Given the description of an element on the screen output the (x, y) to click on. 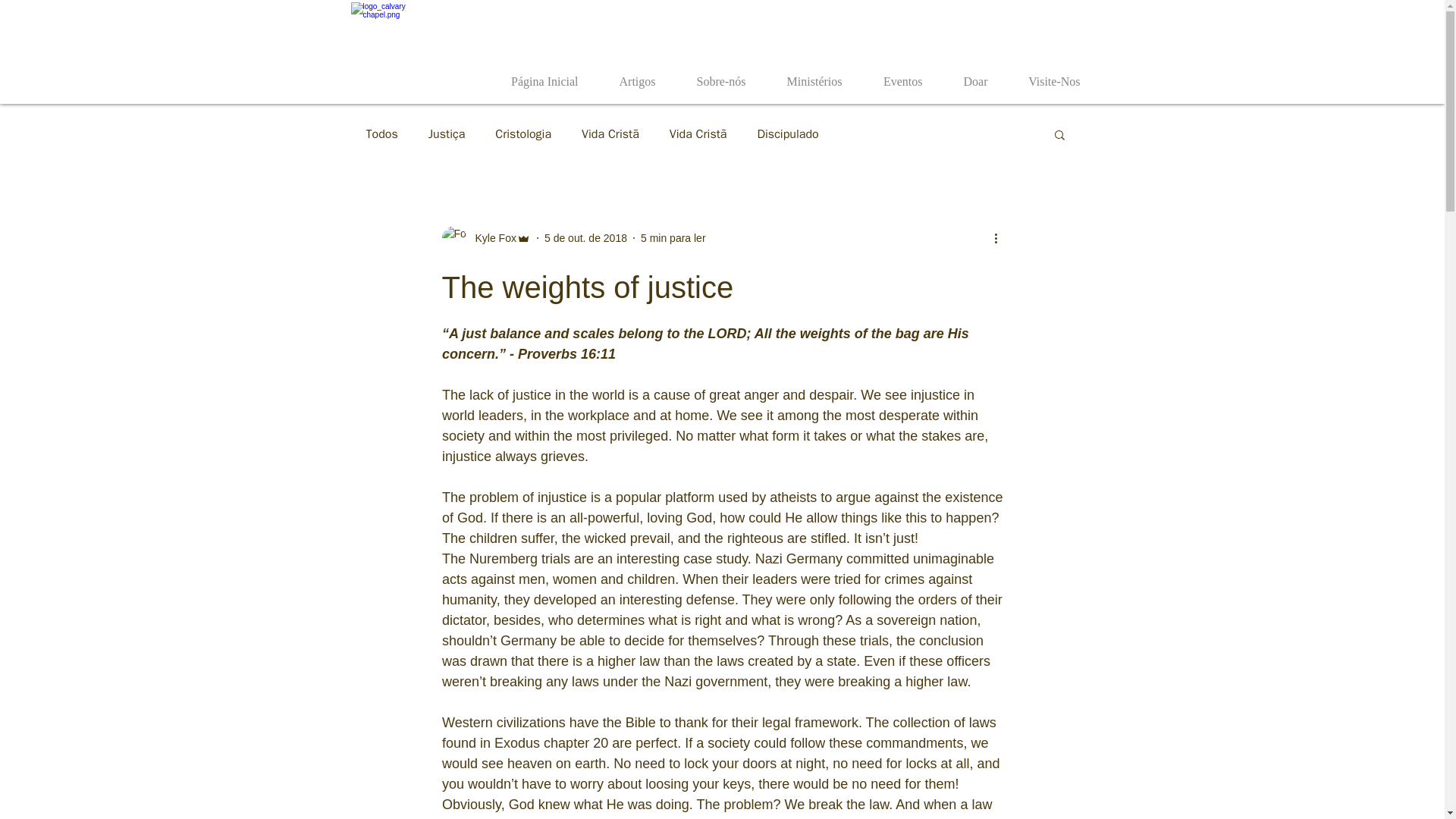
Artigos (629, 75)
Doar (968, 75)
Cristologia (523, 133)
Visite-Nos (1047, 75)
Eventos (896, 75)
Discipulado (787, 133)
5 de out. de 2018 (585, 237)
Kyle Fox (490, 238)
5 min para ler (673, 237)
Todos (381, 133)
